Given the description of an element on the screen output the (x, y) to click on. 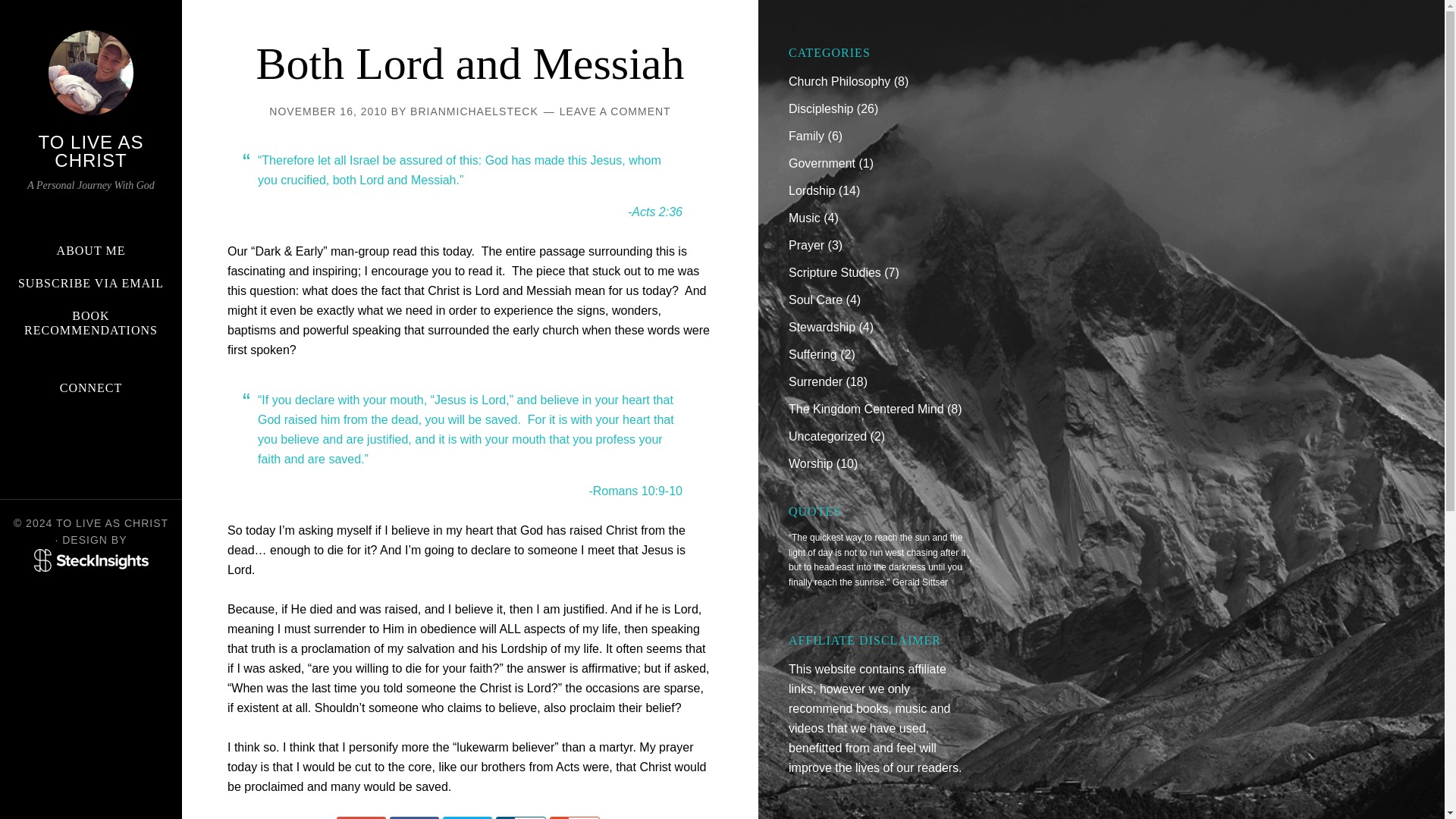
0 (529, 817)
Share (467, 817)
ABOUT ME (90, 250)
BOOK RECOMMENDATIONS (90, 322)
Discipleship (821, 108)
TO LIVE AS CHRIST (91, 150)
CONNECT (90, 387)
BRIANMICHAELSTECK (474, 111)
Share (504, 817)
LEAVE A COMMENT (615, 111)
Share (414, 817)
Share (558, 817)
Share (360, 817)
SUBSCRIBE VIA EMAIL (90, 283)
Church Philosophy (839, 81)
